Given the description of an element on the screen output the (x, y) to click on. 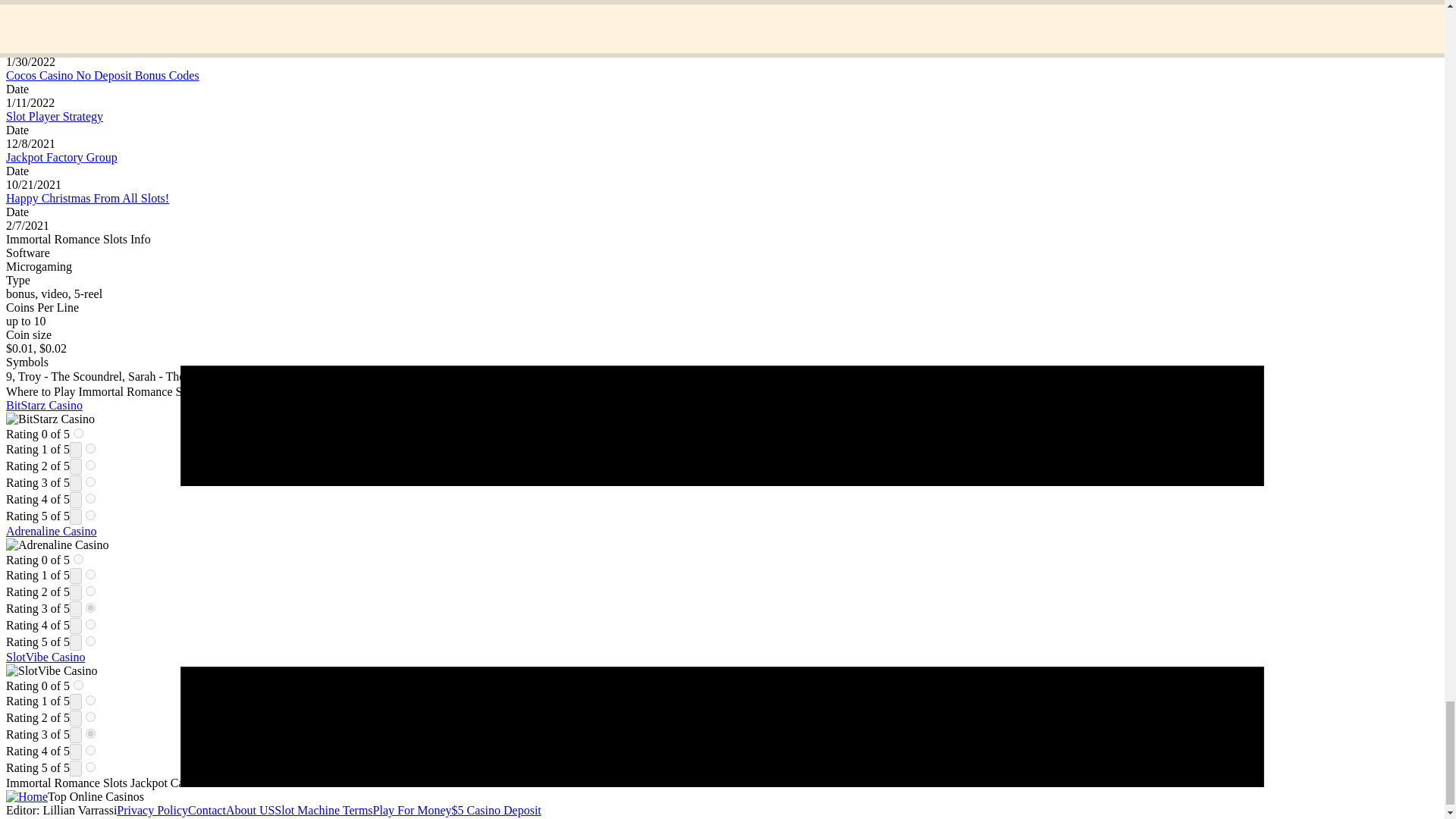
1 (90, 700)
3 (90, 481)
0 (78, 559)
4 (90, 750)
5 (90, 767)
5 (90, 641)
0 (78, 433)
0 (78, 685)
3 (90, 733)
2 (90, 591)
4 (90, 498)
2 (90, 465)
4 (90, 624)
5 (90, 515)
1 (90, 448)
